Given the description of an element on the screen output the (x, y) to click on. 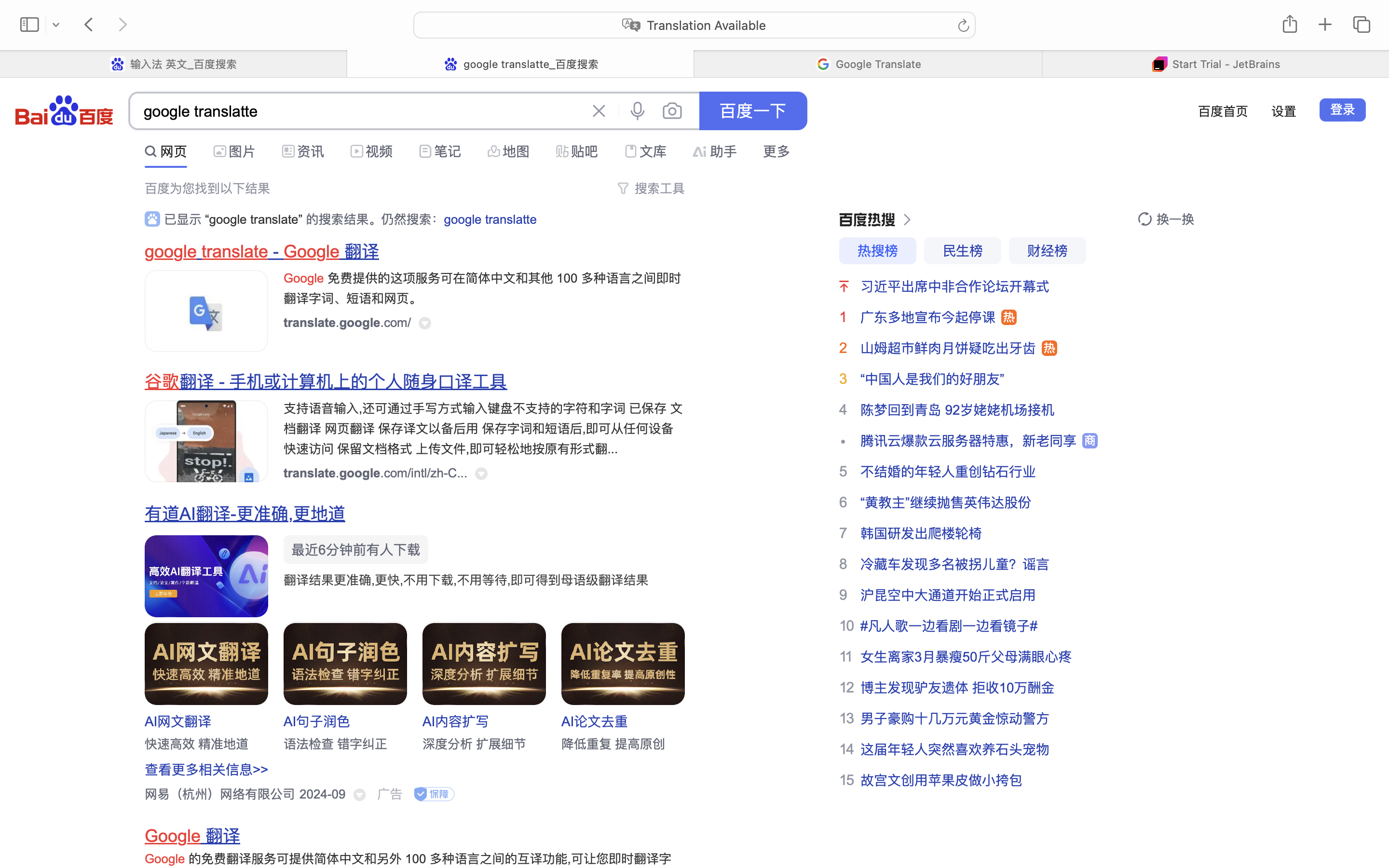
笔记 Element type: AXStaticText (447, 151)
 Element type: AXStaticText (425, 151)
AI论文去重 Element type: AXStaticText (594, 721)
民生榜 Element type: AXStaticText (962, 250)
 Element type: AXStaticText (598, 110)
